Given the description of an element on the screen output the (x, y) to click on. 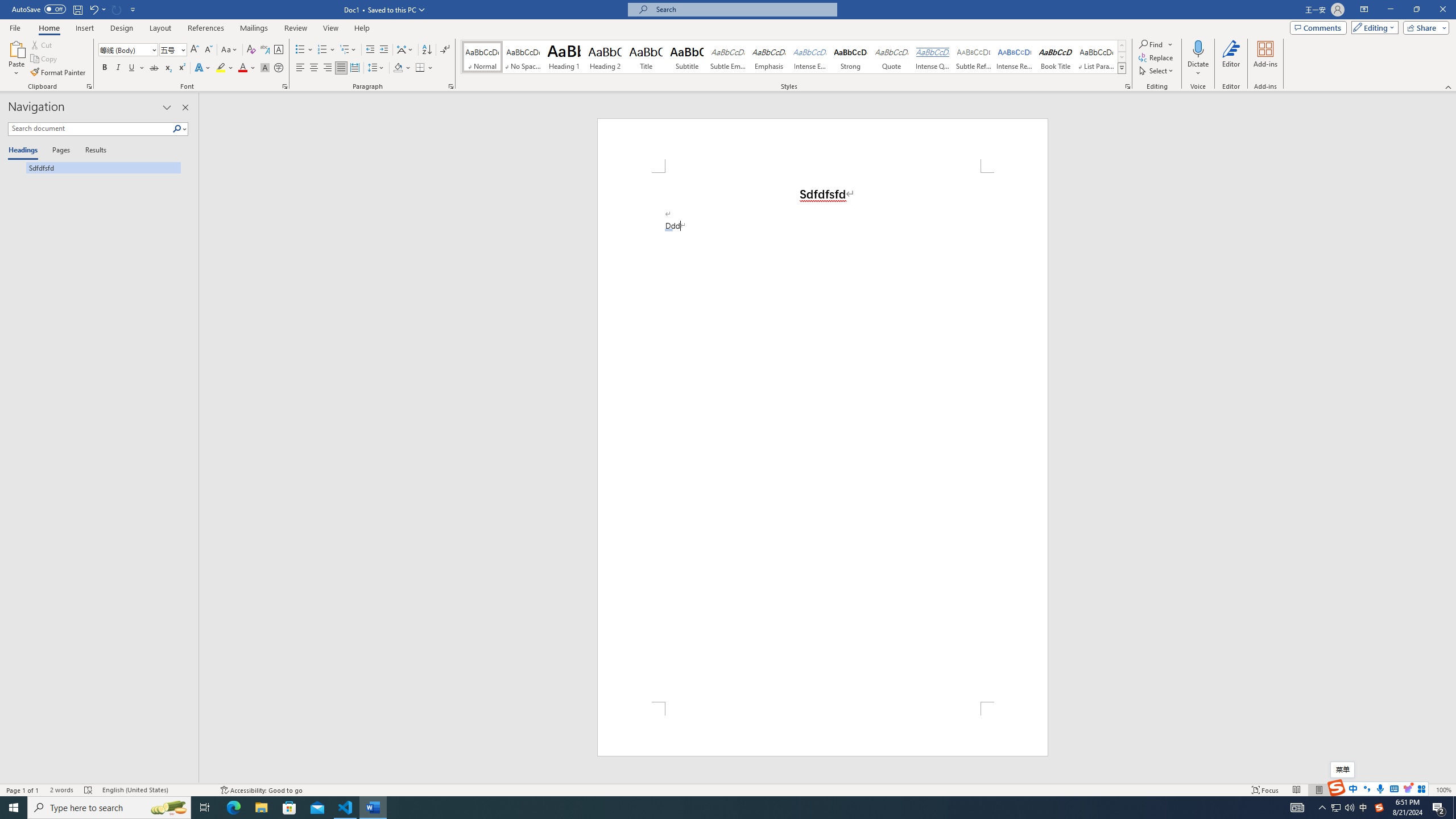
Subtle Reference (973, 56)
